Given the description of an element on the screen output the (x, y) to click on. 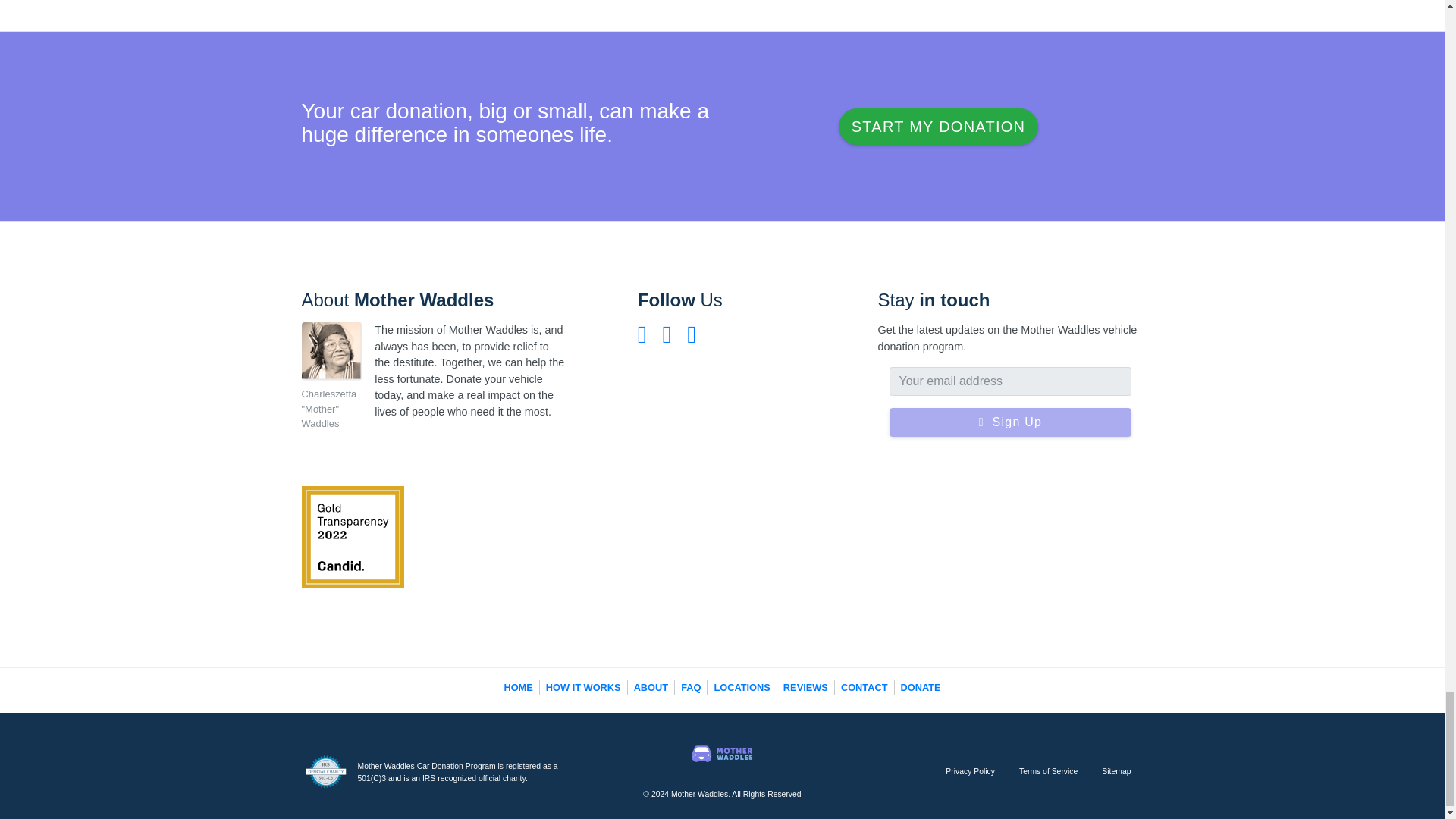
HOW IT WORKS (583, 686)
START MY DONATION (938, 126)
HOME (517, 686)
Sign Up (1009, 421)
